Given the description of an element on the screen output the (x, y) to click on. 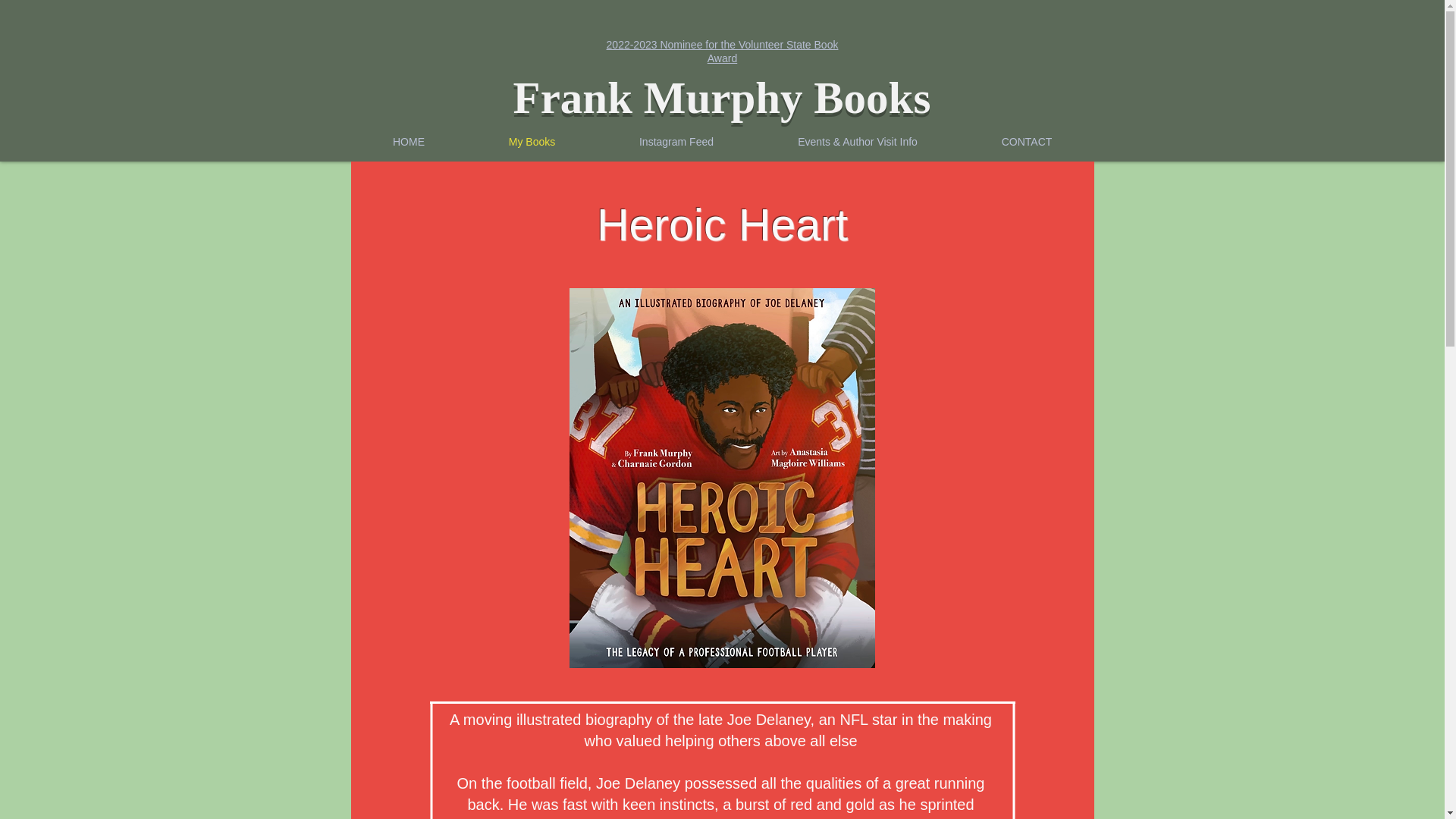
My Books (531, 142)
HOME (407, 142)
Instagram Feed (675, 142)
CONTACT (1026, 142)
